Given the description of an element on the screen output the (x, y) to click on. 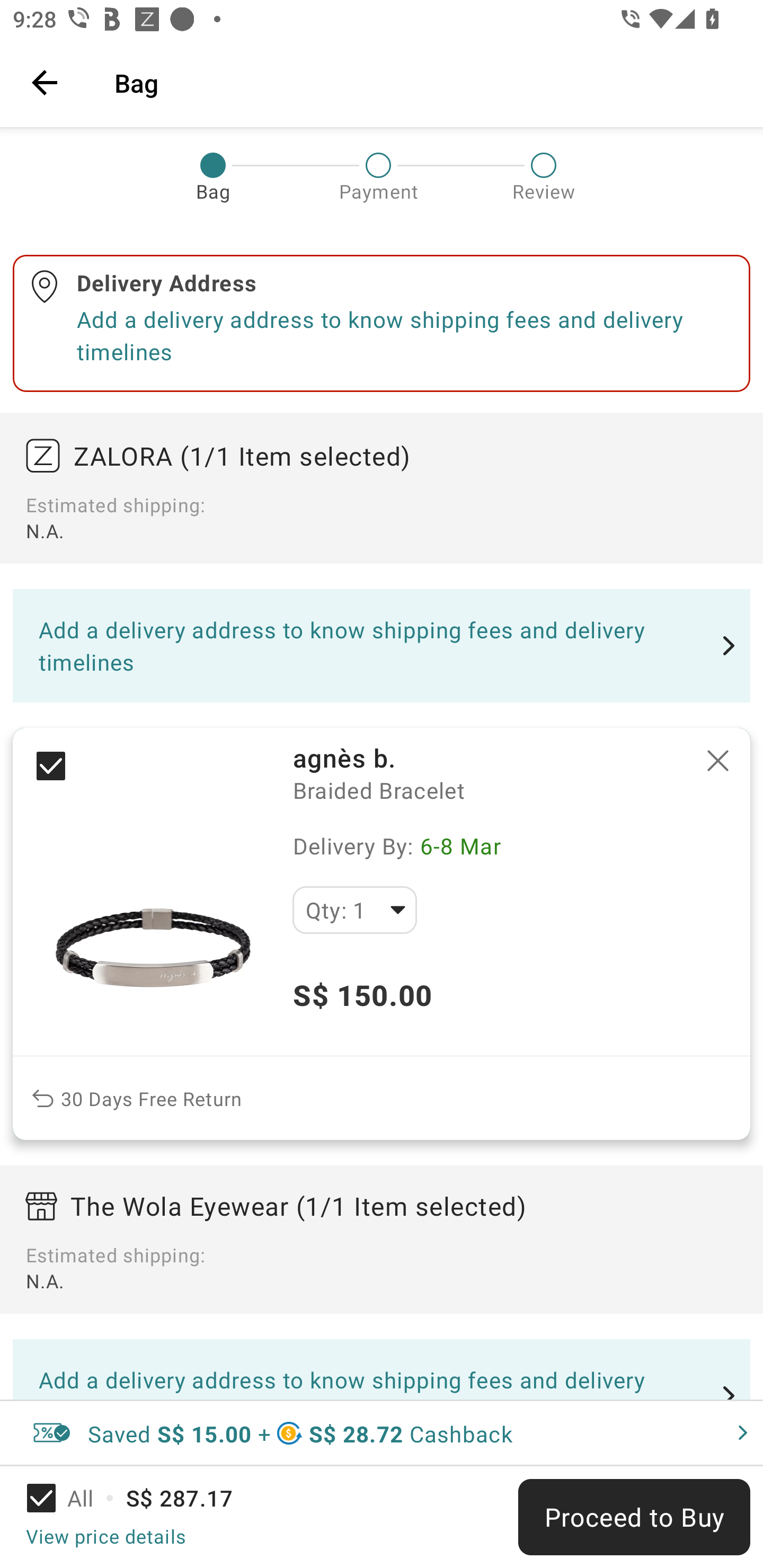
Navigate up (44, 82)
Bag (426, 82)
Qty: 1 (354, 909)
Saved S$ 15.00 +   S$ 28.72 Cashback (381, 1432)
All (72, 1497)
Proceed to Buy (634, 1516)
View price details (105, 1535)
